Given the description of an element on the screen output the (x, y) to click on. 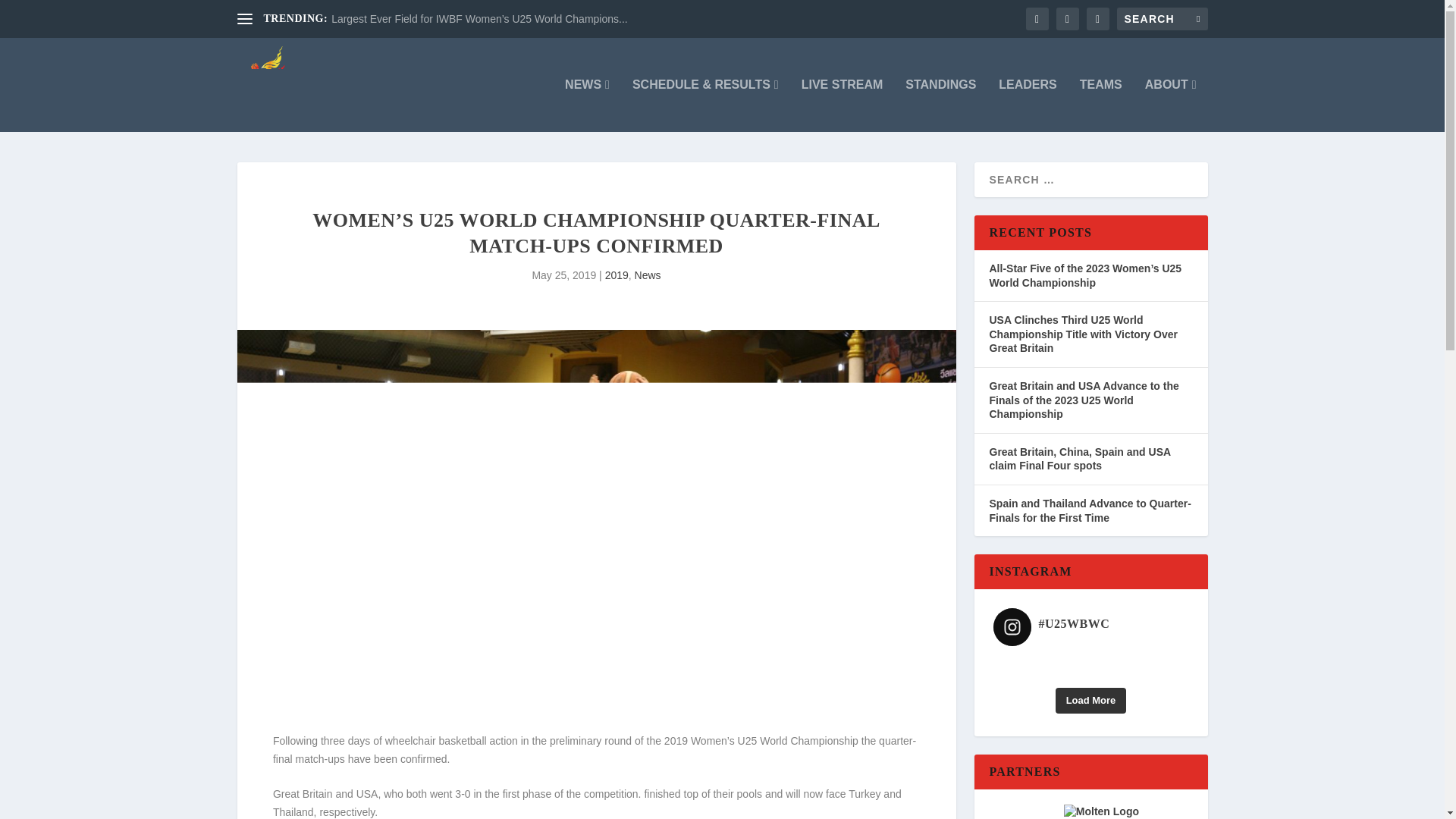
LEADERS (1027, 104)
TEAMS (1101, 104)
News (647, 275)
LIVE STREAM (842, 104)
2019 (616, 275)
STANDINGS (940, 104)
ABOUT (1170, 104)
NEWS (587, 104)
Search for: (1161, 18)
